Given the description of an element on the screen output the (x, y) to click on. 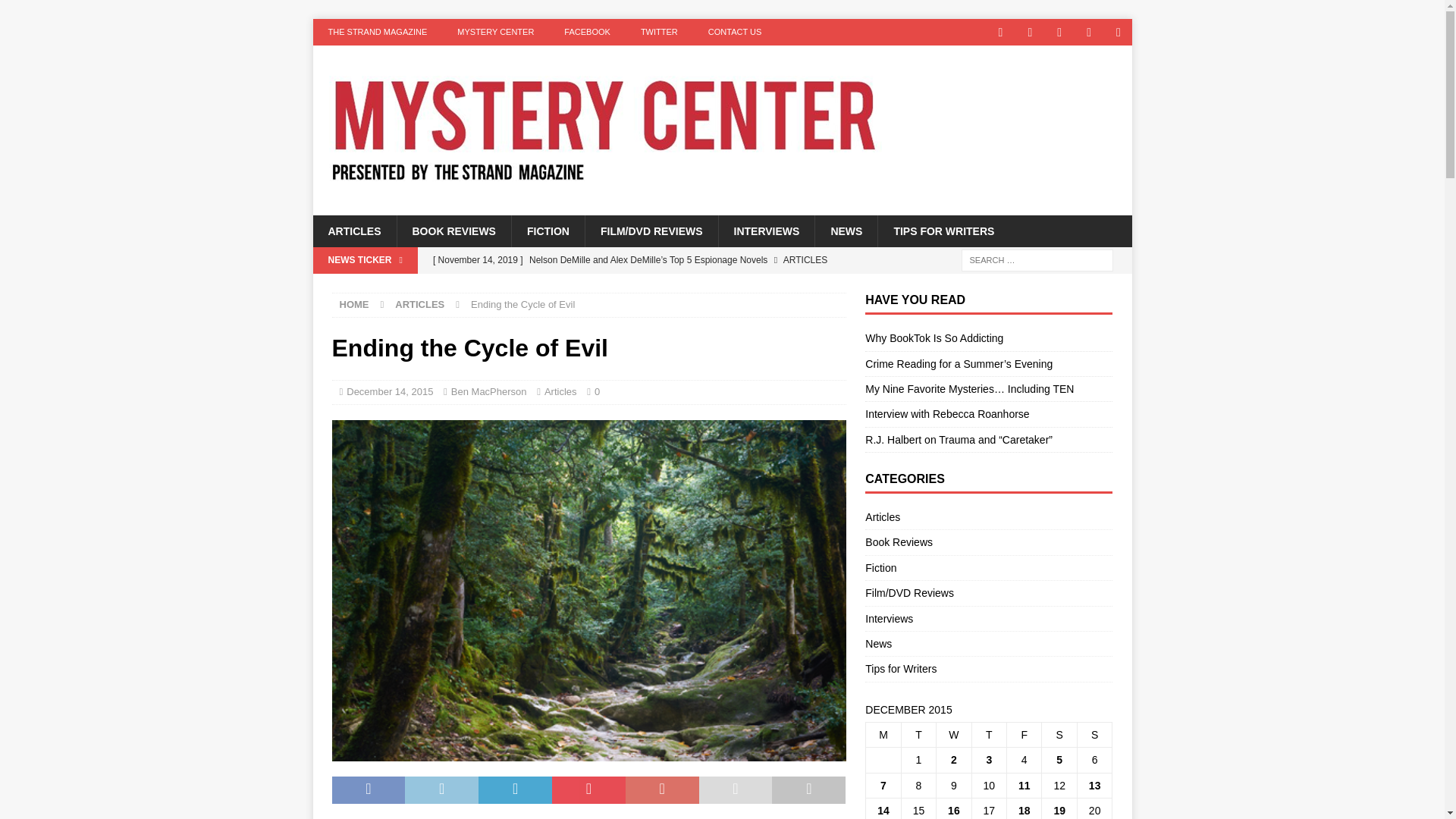
FACEBOOK (587, 31)
INTERVIEWS (766, 231)
Search (56, 11)
TIPS FOR WRITERS (943, 231)
MYSTERY CENTER (495, 31)
THE STRAND MAGAZINE (377, 31)
CONTACT US (735, 31)
TWITTER (659, 31)
BOOK REVIEWS (453, 231)
Why BookTok Is So Addicting (634, 285)
ARTICLES (354, 231)
NEWS (845, 231)
FICTION (548, 231)
